Given the description of an element on the screen output the (x, y) to click on. 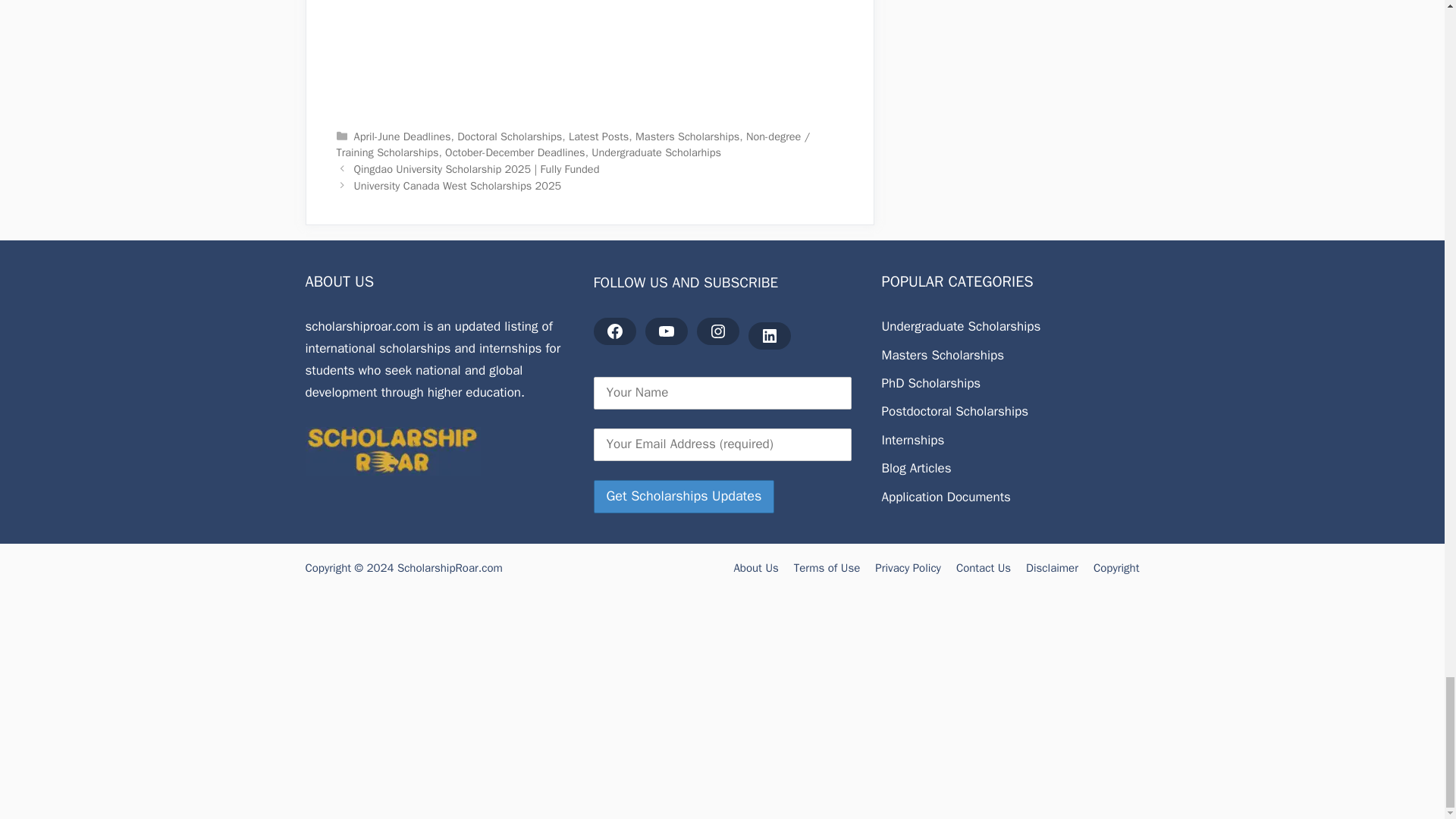
Get Scholarships Updates (683, 496)
April-June Deadlines (402, 136)
Doctoral Scholarships (509, 136)
